Given the description of an element on the screen output the (x, y) to click on. 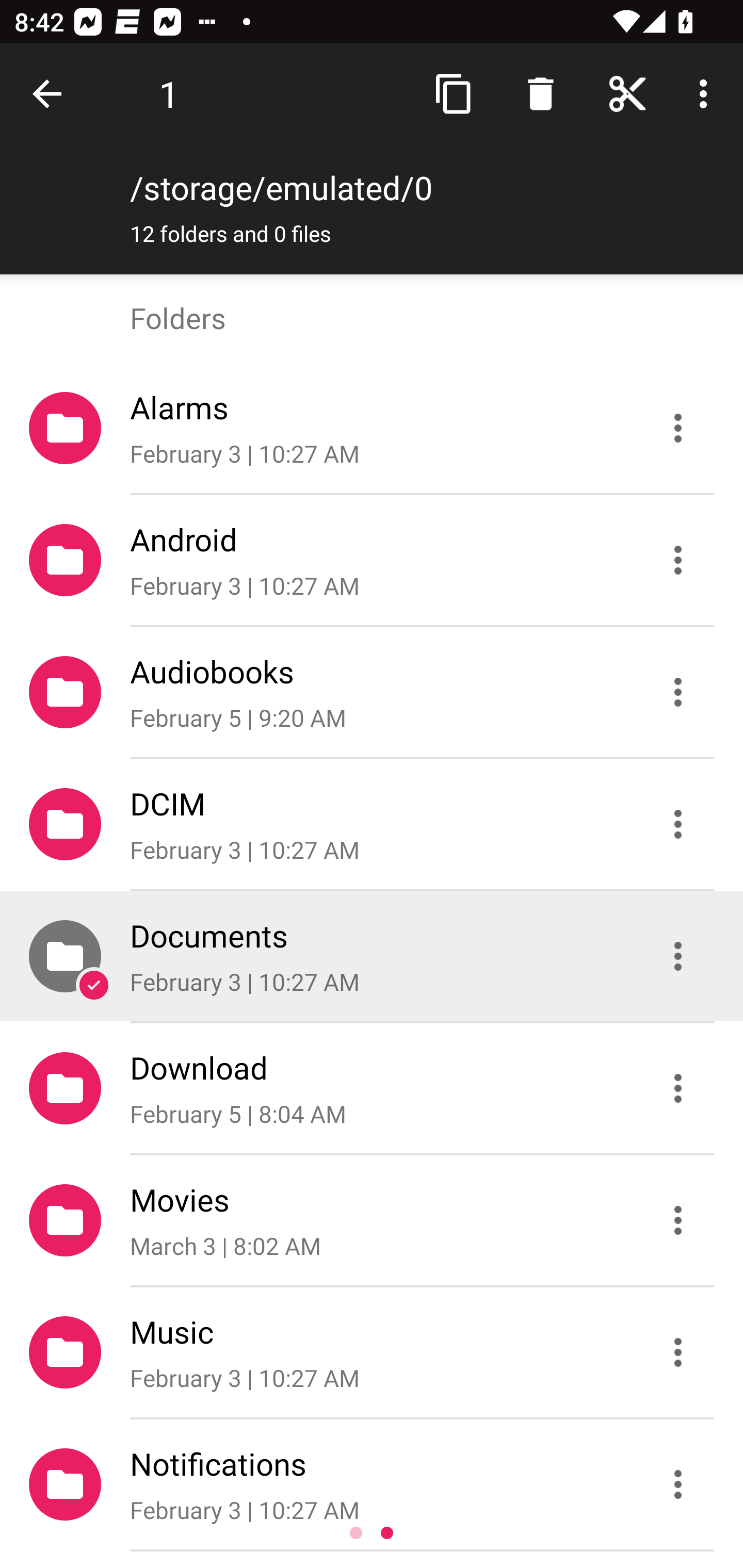
1 (169, 93)
Done (50, 93)
Copy (453, 93)
Search (540, 93)
Home (626, 93)
More options (706, 93)
Alarms February 3 | 10:27 AM (371, 427)
Android February 3 | 10:27 AM (371, 560)
Audiobooks February 5 | 9:20 AM (371, 692)
DCIM February 3 | 10:27 AM (371, 823)
Documents February 3 | 10:27 AM (371, 955)
Download February 5 | 8:04 AM (371, 1088)
Movies March 3 | 8:02 AM (371, 1220)
Music February 3 | 10:27 AM (371, 1352)
Notifications February 3 | 10:27 AM (371, 1484)
